Given the description of an element on the screen output the (x, y) to click on. 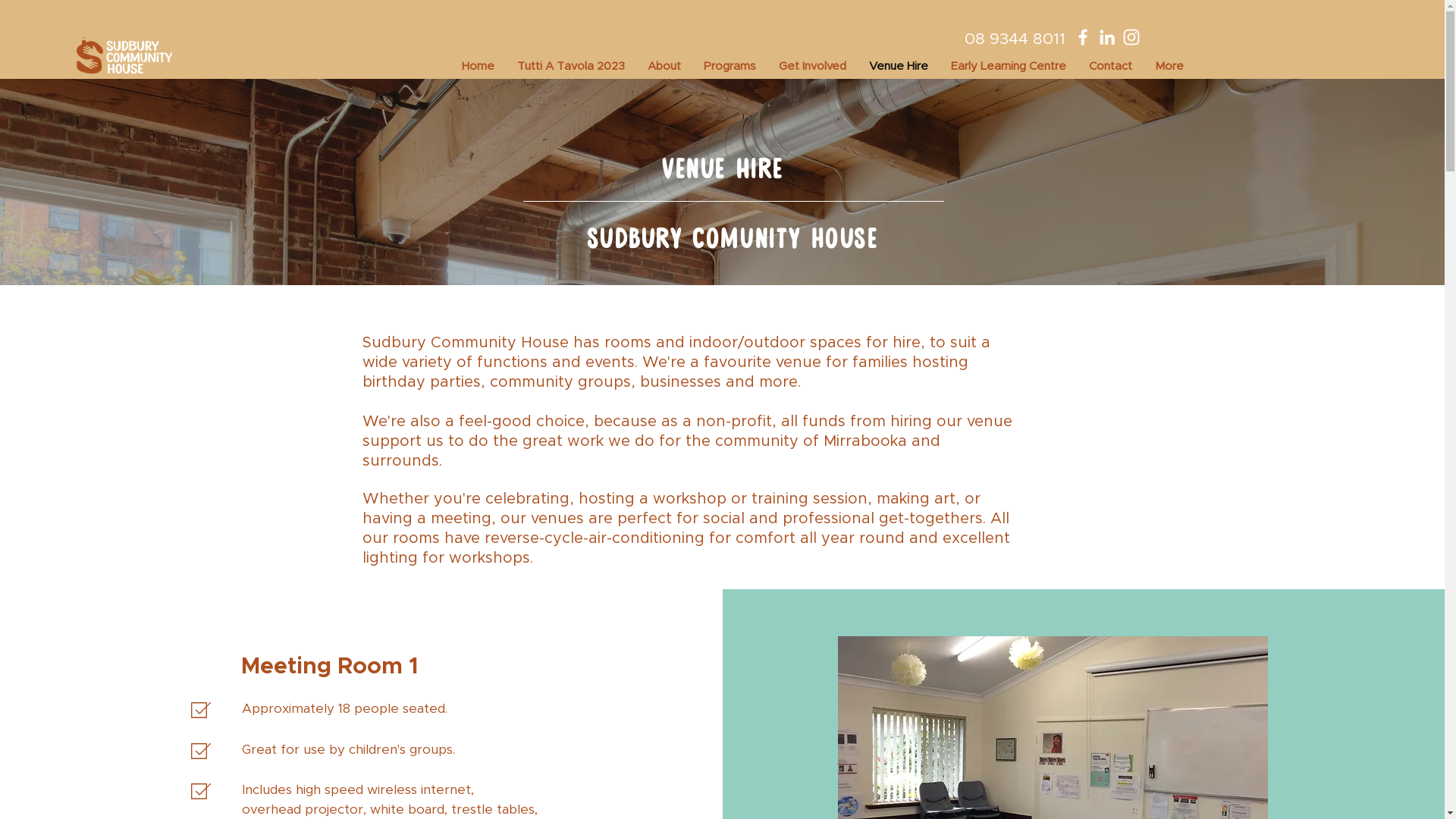
Contact Element type: text (1110, 66)
Venue Hire Element type: text (898, 66)
About Element type: text (664, 66)
Programs Element type: text (729, 66)
Home Element type: text (477, 66)
Early Learning Centre Element type: text (1008, 66)
Tutti A Tavola 2023 Element type: text (570, 66)
